Given the description of an element on the screen output the (x, y) to click on. 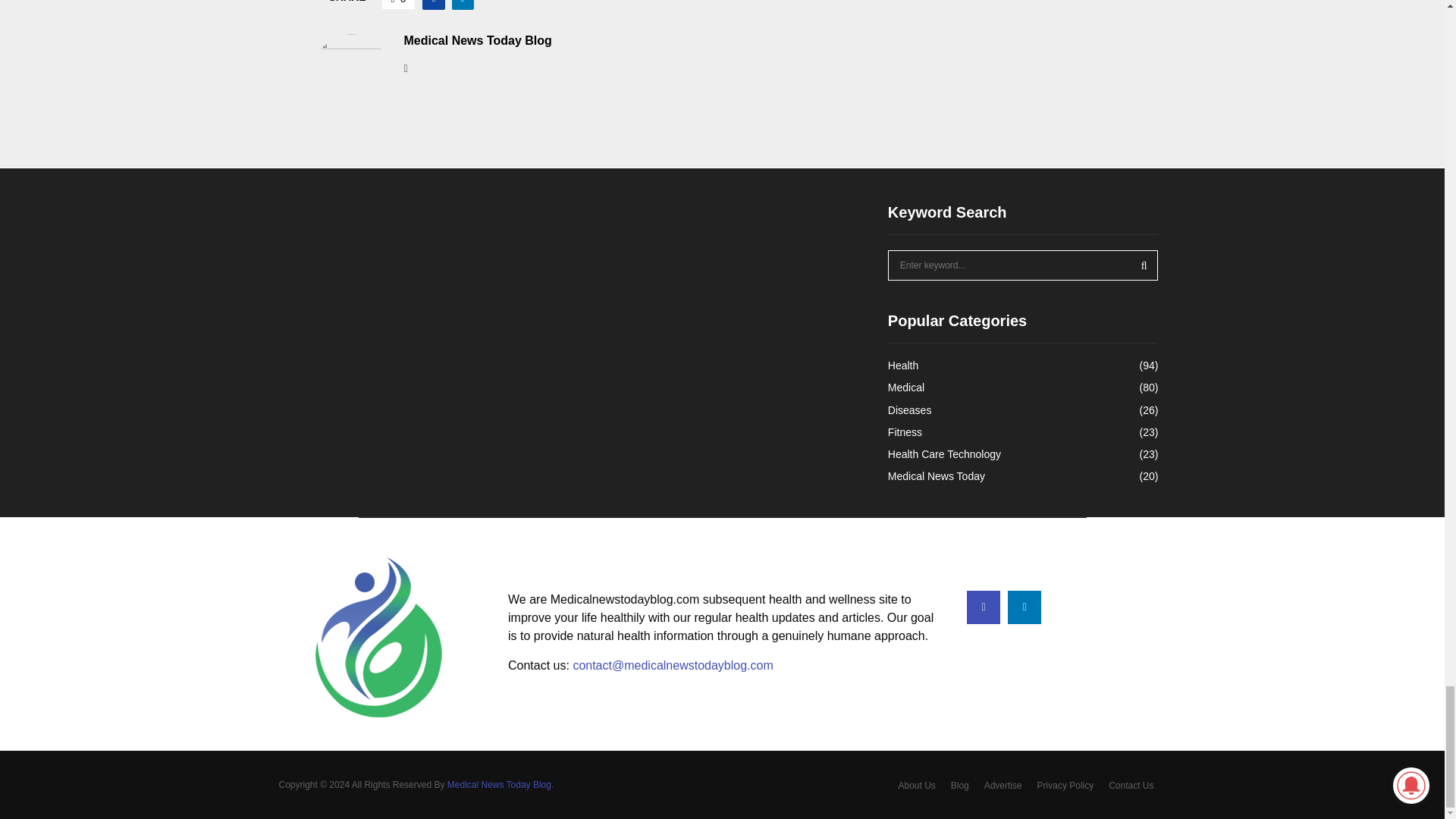
Like (398, 4)
